Given the description of an element on the screen output the (x, y) to click on. 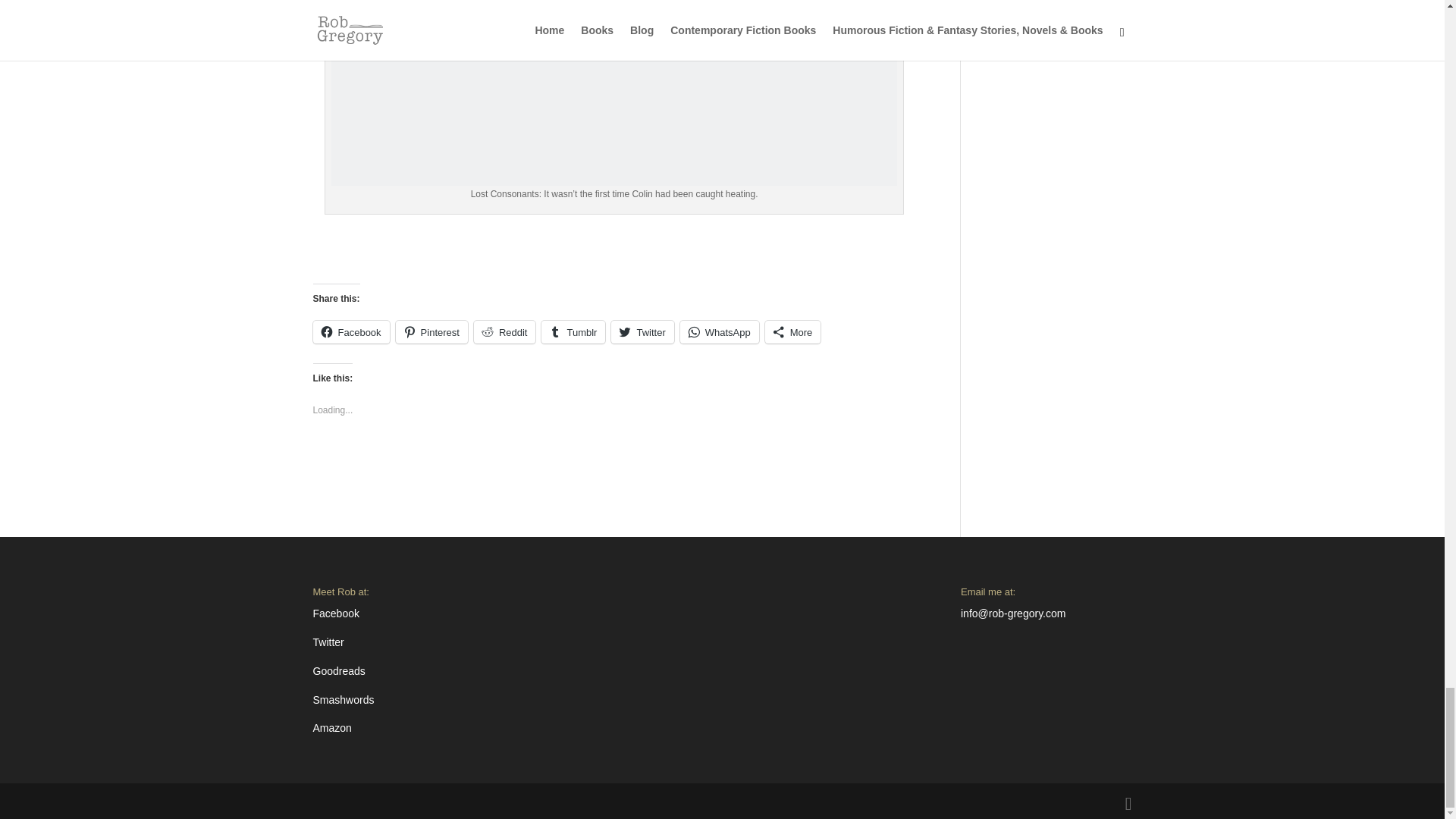
Click to share on Tumblr (573, 332)
More (793, 332)
Click to share on Reddit (504, 332)
Click to share on WhatsApp (718, 332)
Tumblr (573, 332)
Click to share on Facebook (350, 332)
WhatsApp (718, 332)
Twitter (641, 332)
Pinterest (431, 332)
Facebook (350, 332)
Reddit (504, 332)
Click to share on Pinterest (431, 332)
Click to share on Twitter (641, 332)
